Given the description of an element on the screen output the (x, y) to click on. 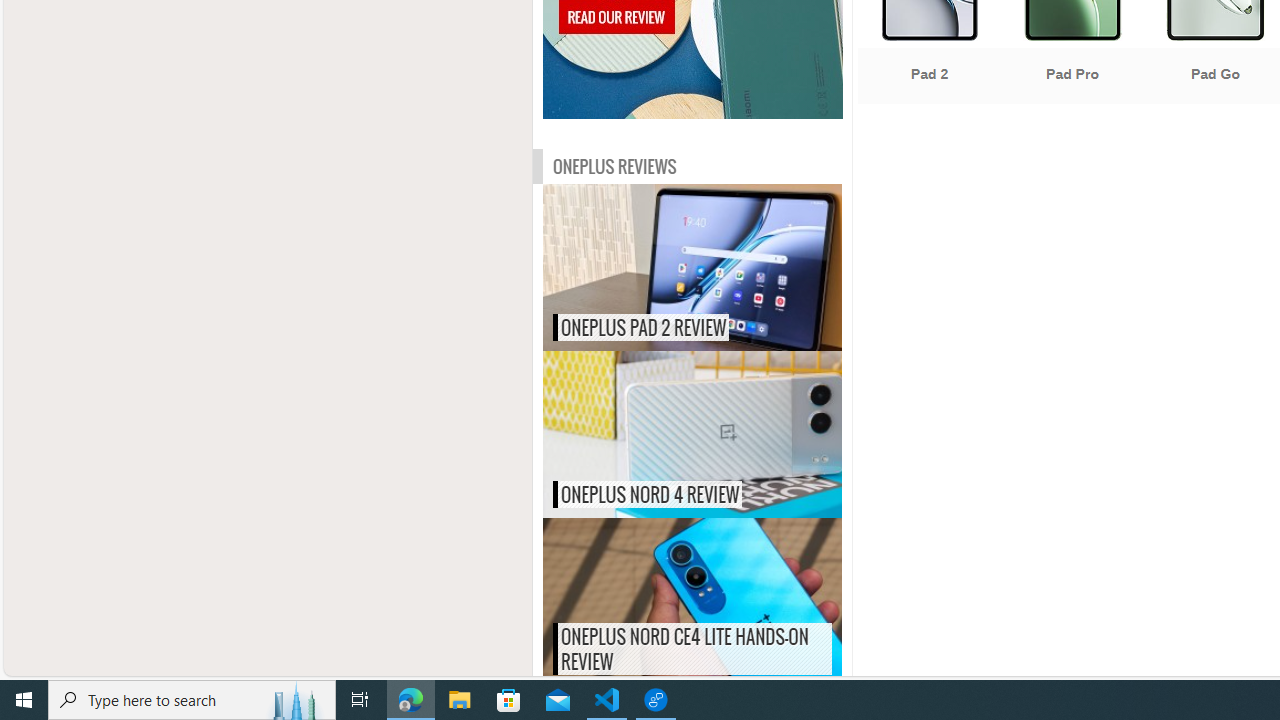
OnePlus Nord 4 review ONEPLUS NORD 4 REVIEW (692, 434)
OnePlus Pad 2 review (734, 267)
OnePlus Nord CE4 Lite hands-on review (734, 600)
OnePlus Pad 2 review ONEPLUS PAD 2 REVIEW (692, 267)
OnePlus Nord 4 review (734, 434)
